Given the description of an element on the screen output the (x, y) to click on. 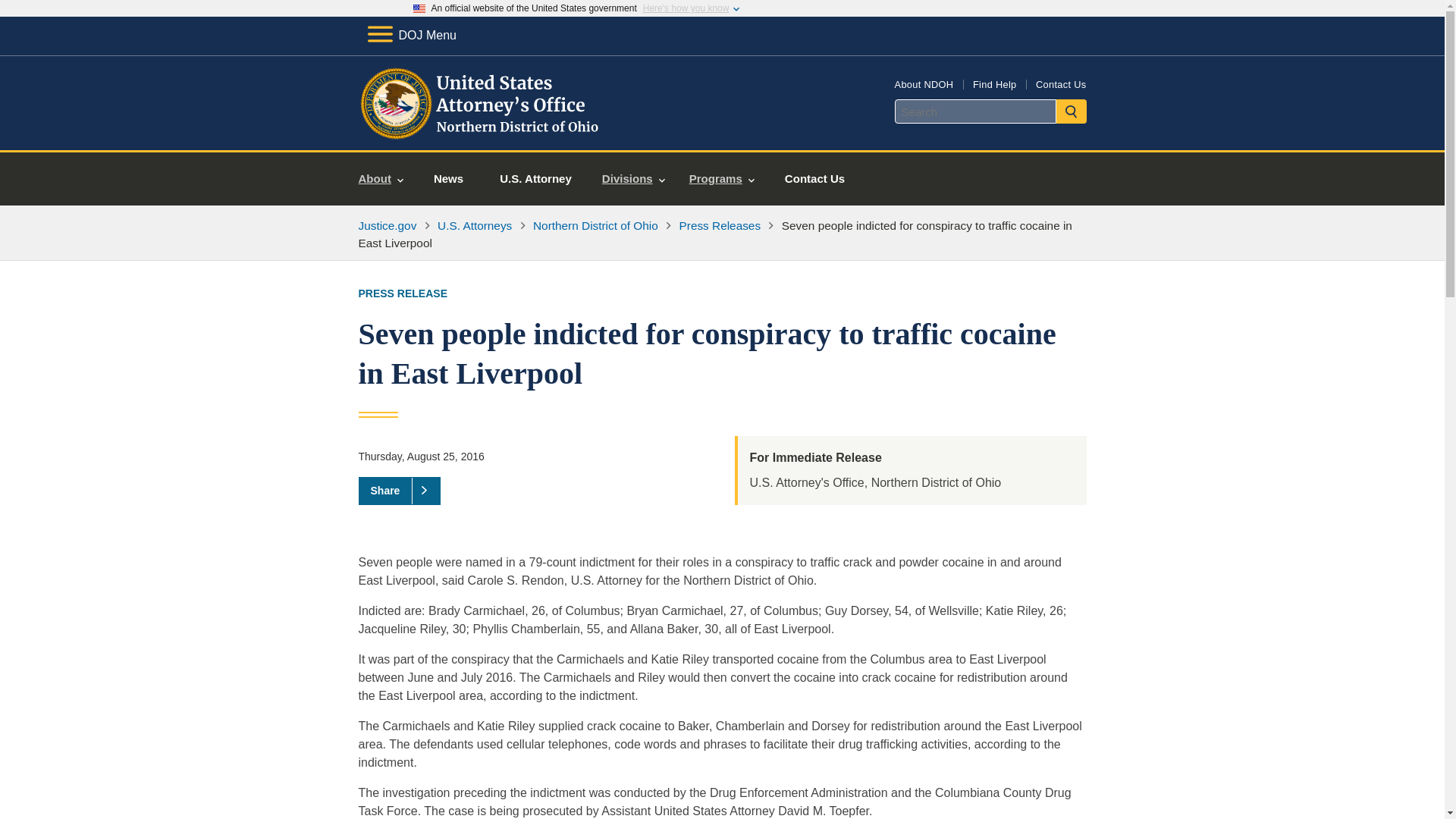
Press Releases (720, 225)
About NDOH (924, 84)
About (380, 179)
Justice.gov (387, 225)
U.S. Attorney (535, 179)
Here's how you know (686, 8)
Find Help (994, 84)
Programs (722, 179)
Contact Us (1060, 84)
DOJ Menu (411, 35)
Home (481, 132)
Northern District of Ohio (595, 225)
U.S. Attorneys (475, 225)
Share (398, 490)
Contact Us (815, 179)
